Given the description of an element on the screen output the (x, y) to click on. 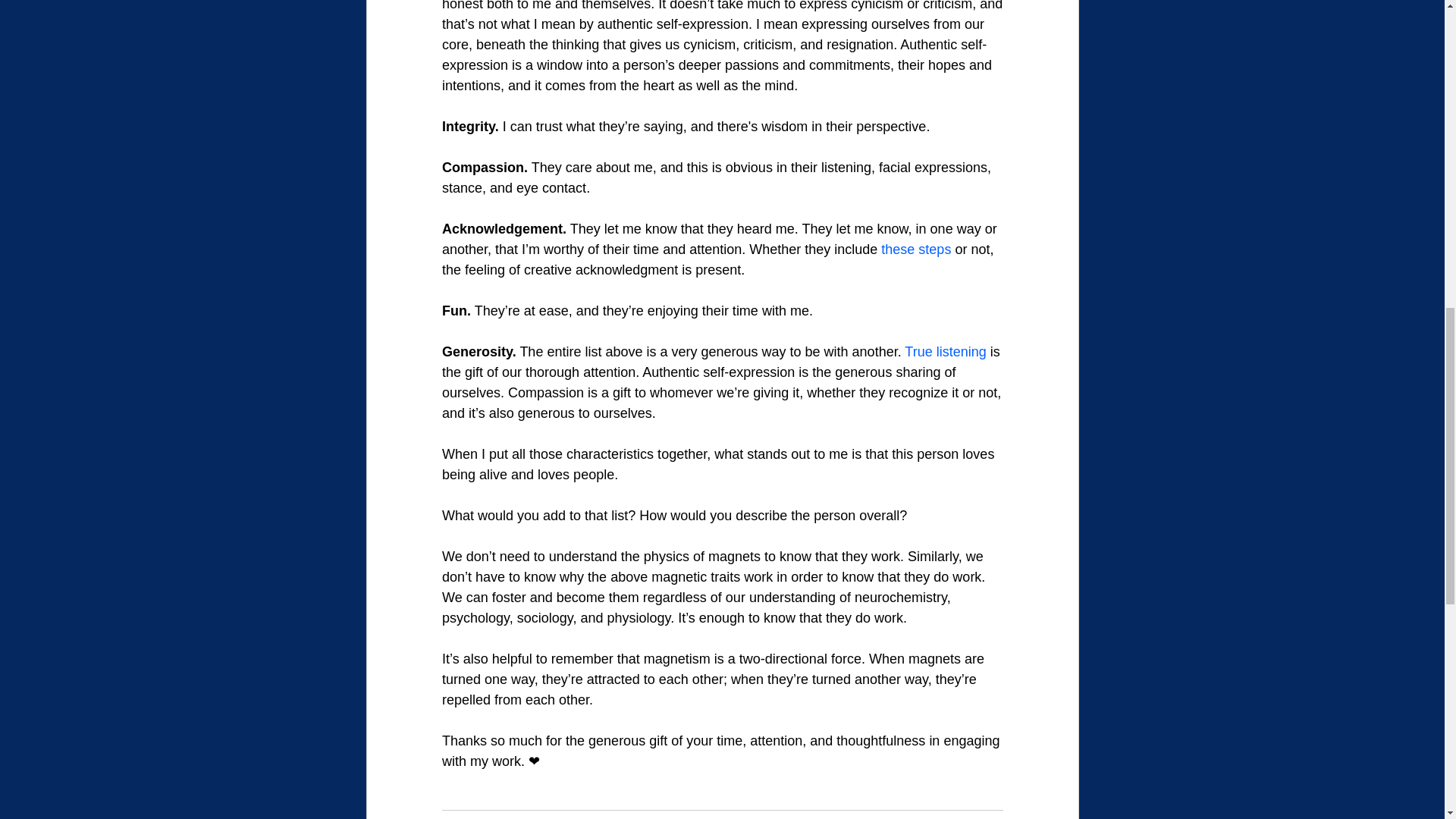
these steps (915, 249)
True listening (944, 351)
